Given the description of an element on the screen output the (x, y) to click on. 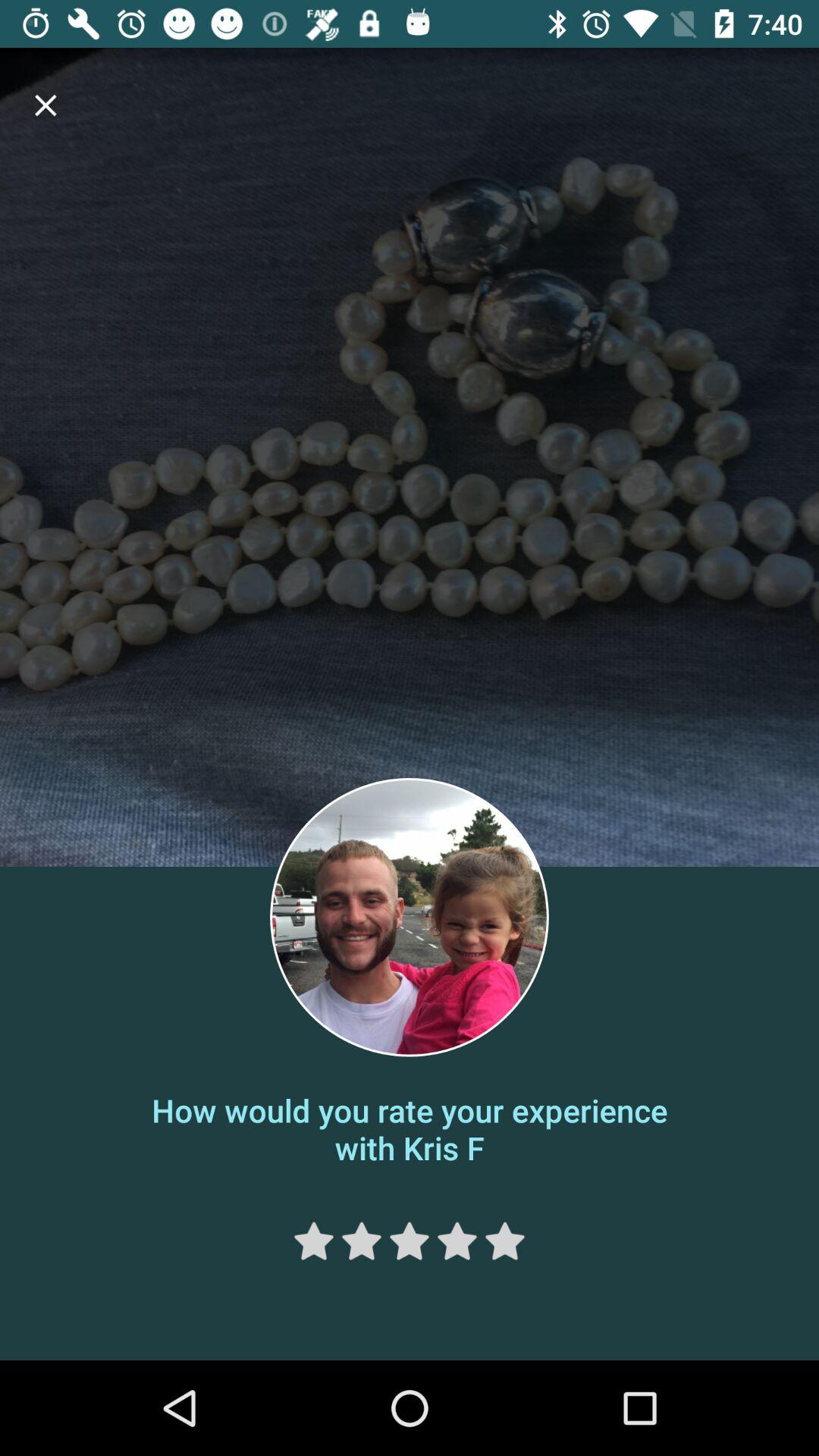
choose star rating (361, 1240)
